Given the description of an element on the screen output the (x, y) to click on. 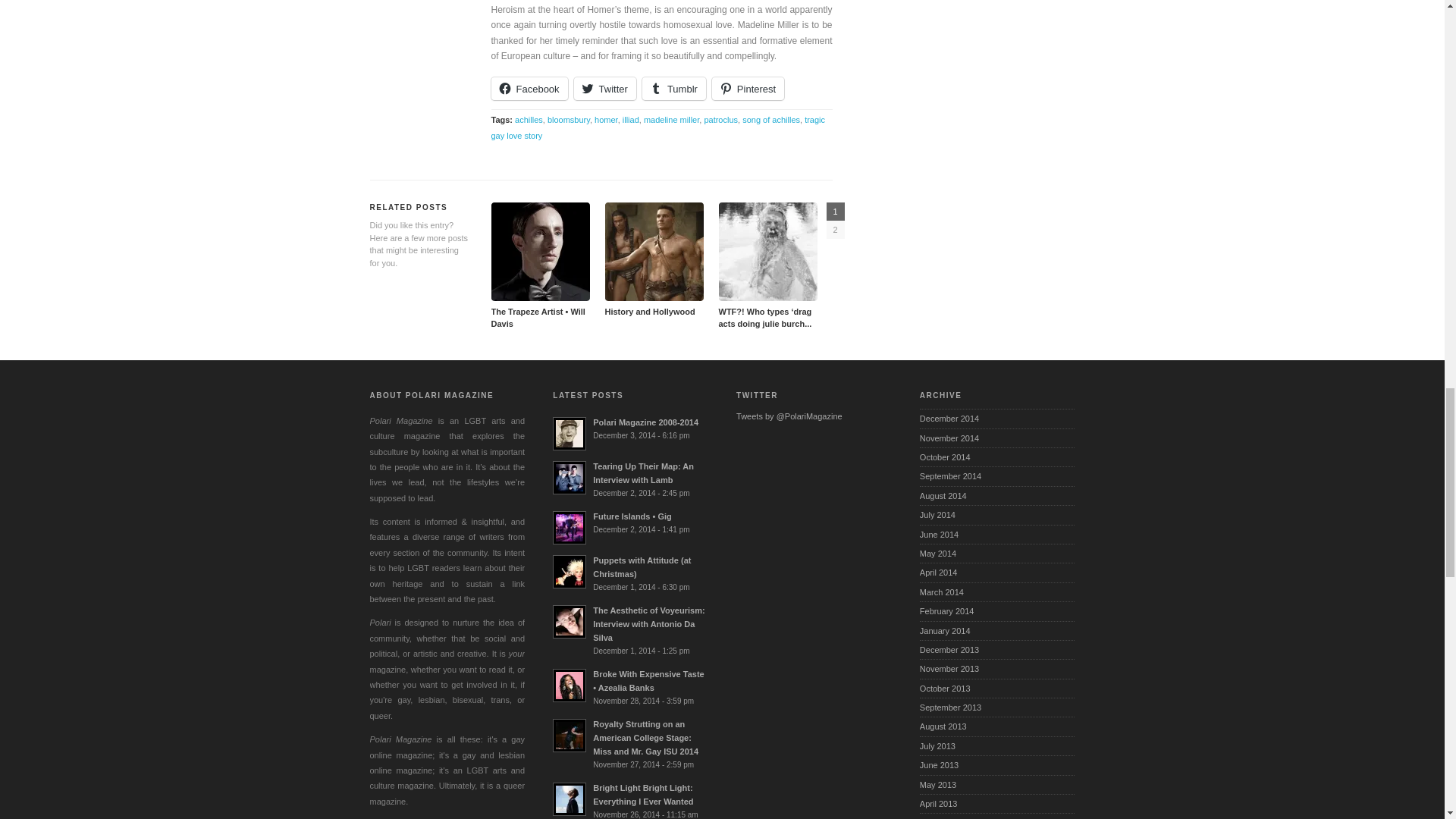
Crixus (654, 251)
WTF?! Friday (767, 251)
Will Davis The Trapeze Artist (540, 251)
Click to share on Twitter (604, 87)
Click to share on Pinterest (747, 87)
Click to share on Tumblr (674, 87)
Click to share on Facebook (529, 87)
